Given the description of an element on the screen output the (x, y) to click on. 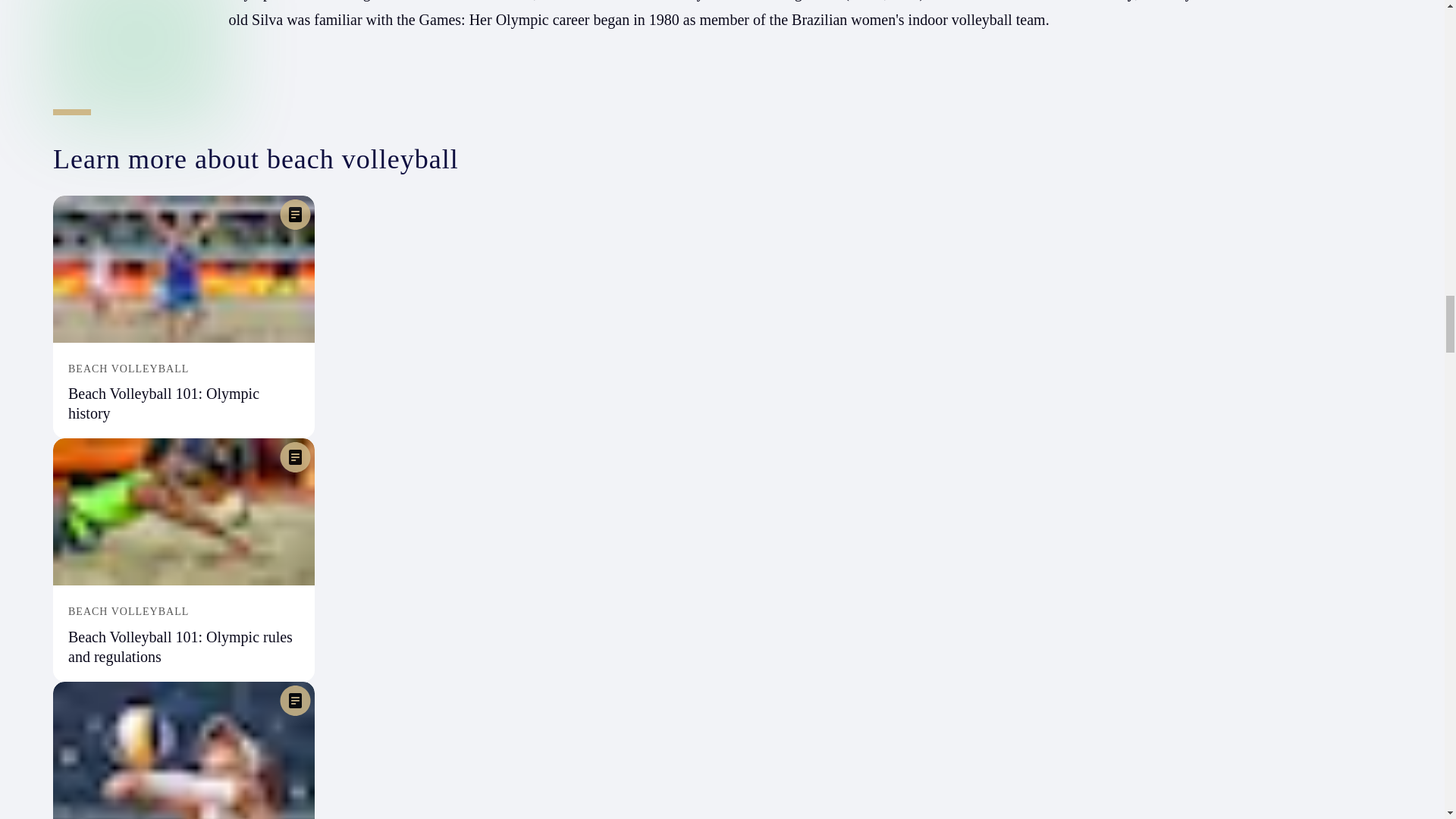
Beach Volleyball 101: Olympic history (163, 402)
Beach Volleyball 101: Olympic rules and regulations (180, 646)
BEACH VOLLEYBALL (183, 612)
BEACH VOLLEYBALL (183, 368)
